Given the description of an element on the screen output the (x, y) to click on. 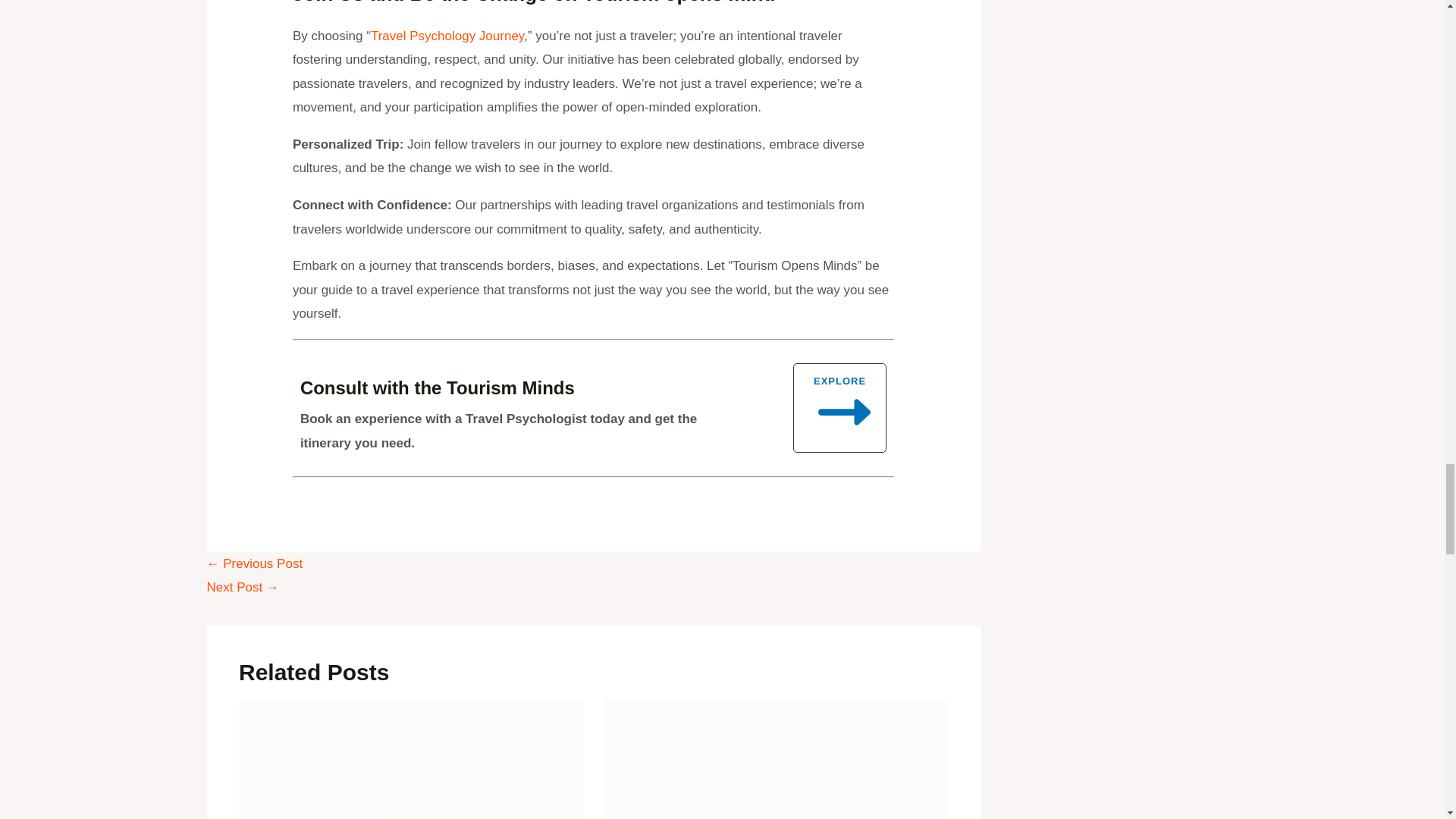
5 Successful Ways To Perform Under Pressure (242, 586)
HumanX Travel Psychology Journey (447, 35)
